Given the description of an element on the screen output the (x, y) to click on. 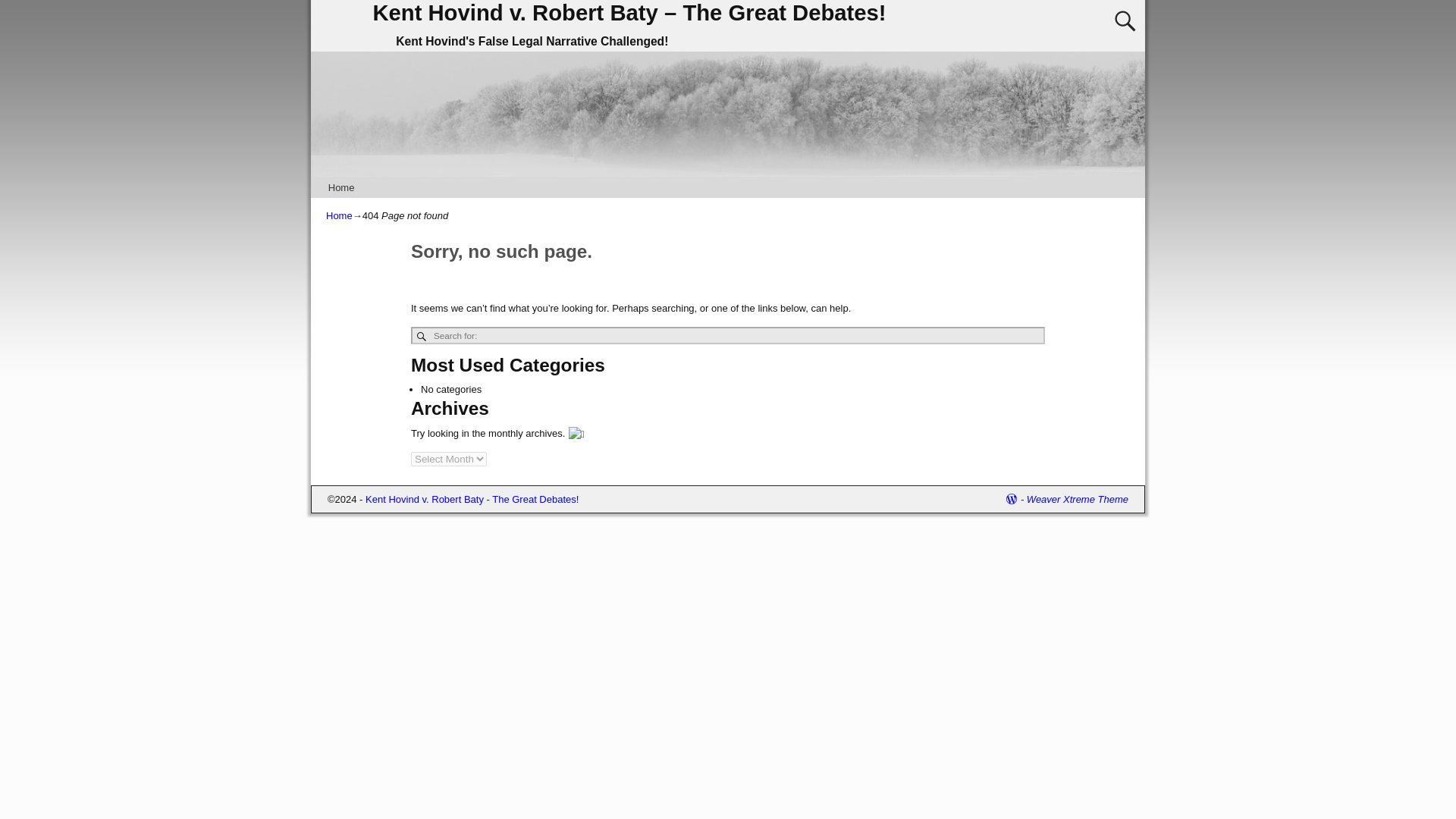
- (1016, 499)
Weaver Xtreme Theme (1077, 499)
Weaver Xtreme Theme (1077, 499)
Home (340, 187)
Kent Hovind v. Robert Baty - The Great Debates! (471, 499)
Proudly powered by WordPress (1016, 499)
Home (340, 187)
Home (339, 215)
